Given the description of an element on the screen output the (x, y) to click on. 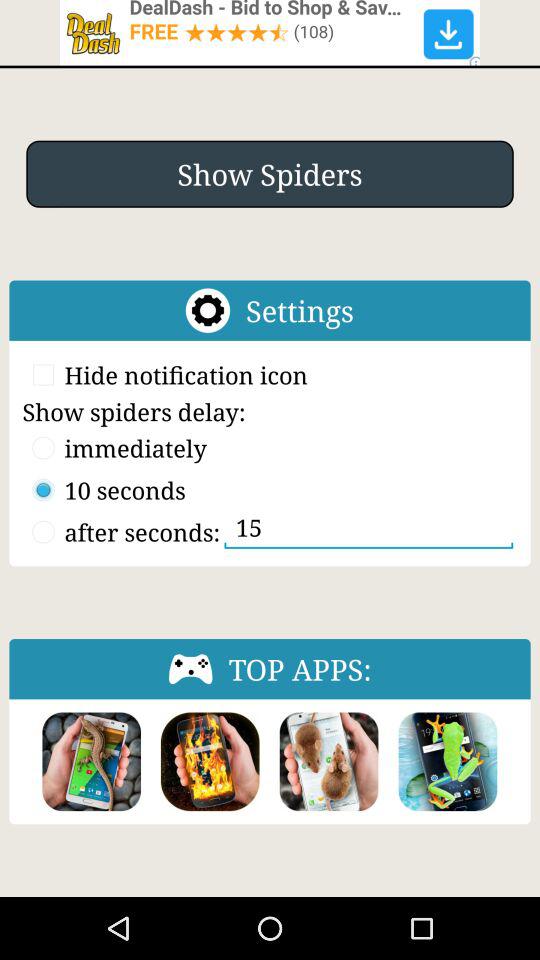
advertisement (270, 32)
